Given the description of an element on the screen output the (x, y) to click on. 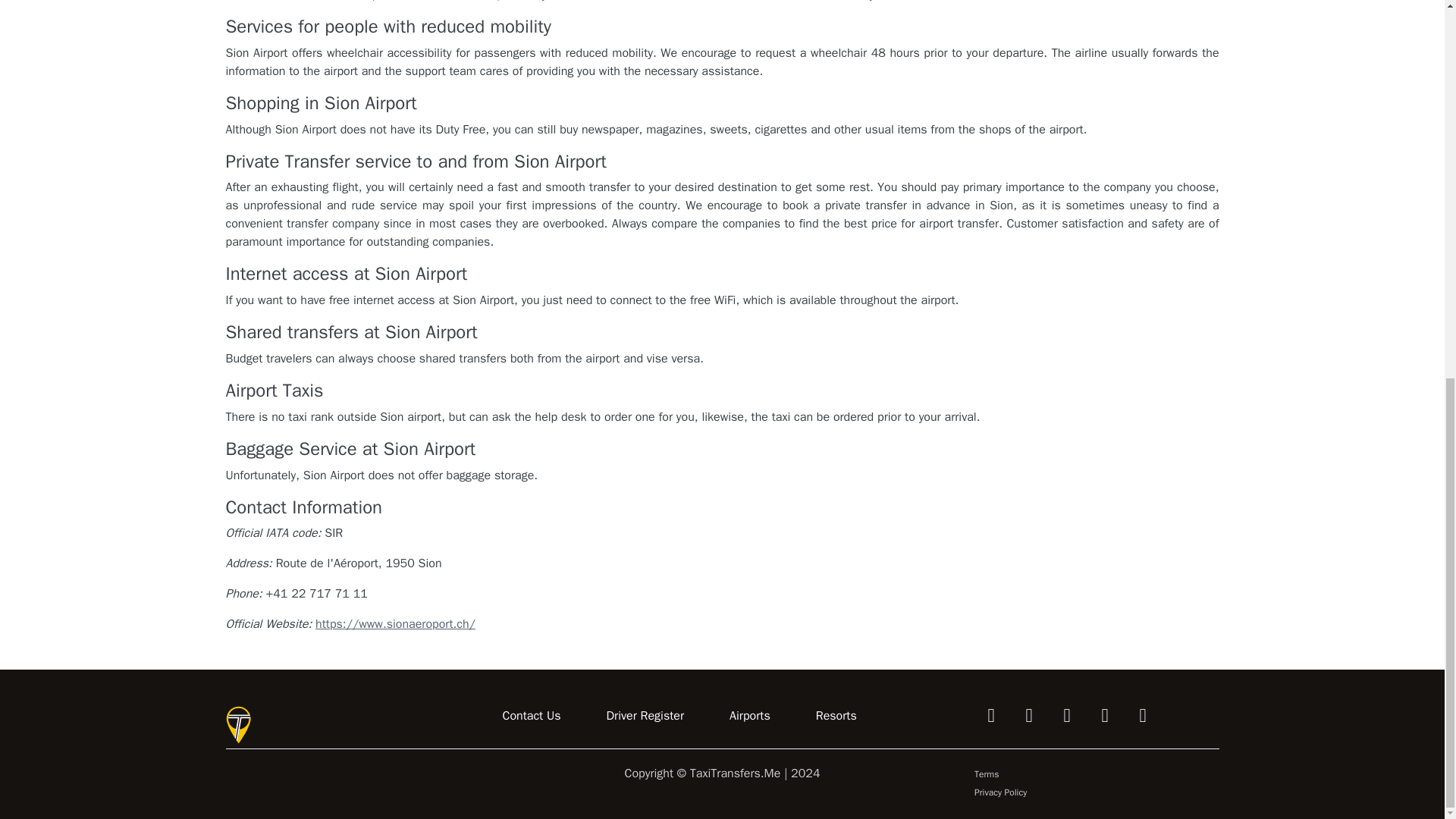
Privacy Policy (1000, 792)
Resorts (836, 715)
Airports (749, 715)
Contact Us (531, 715)
Terms (986, 774)
Driver Register (645, 715)
